Given the description of an element on the screen output the (x, y) to click on. 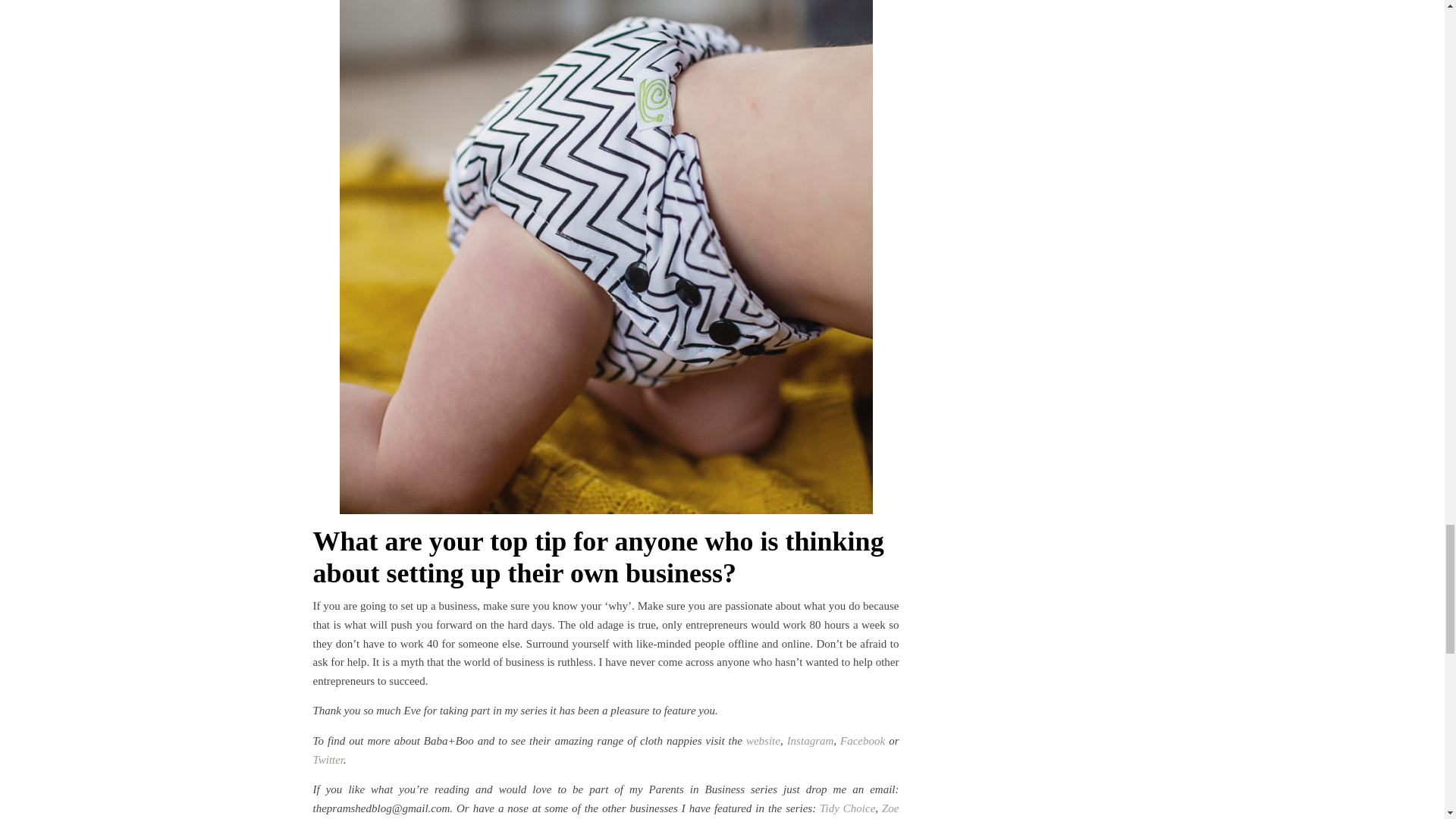
Instagram (810, 740)
Facebook (862, 740)
Twitter (328, 759)
Zoe Hiljemark (605, 810)
website (762, 740)
Tidy Choice (847, 808)
